Given the description of an element on the screen output the (x, y) to click on. 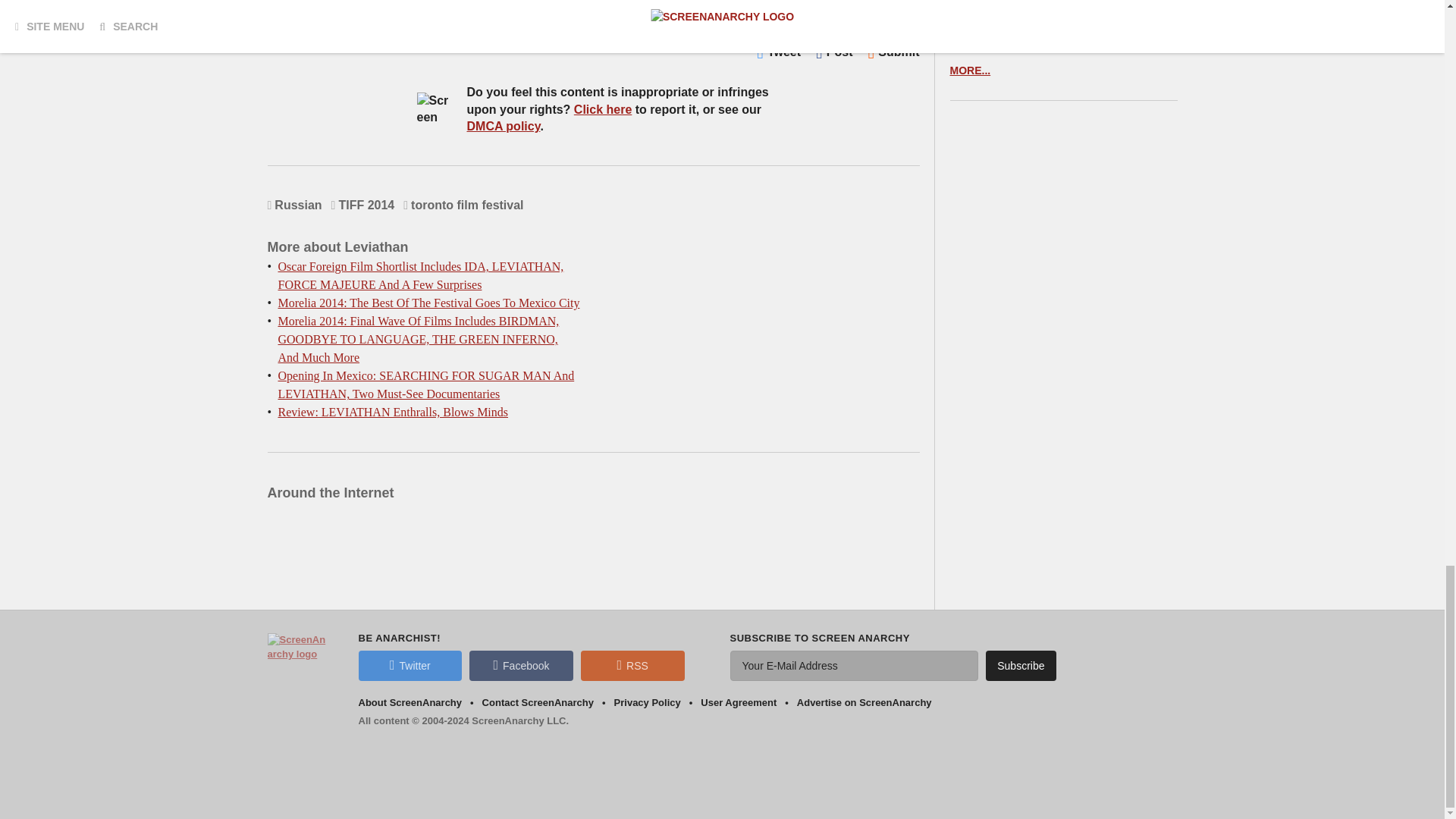
Subscribe (1020, 665)
